Given the description of an element on the screen output the (x, y) to click on. 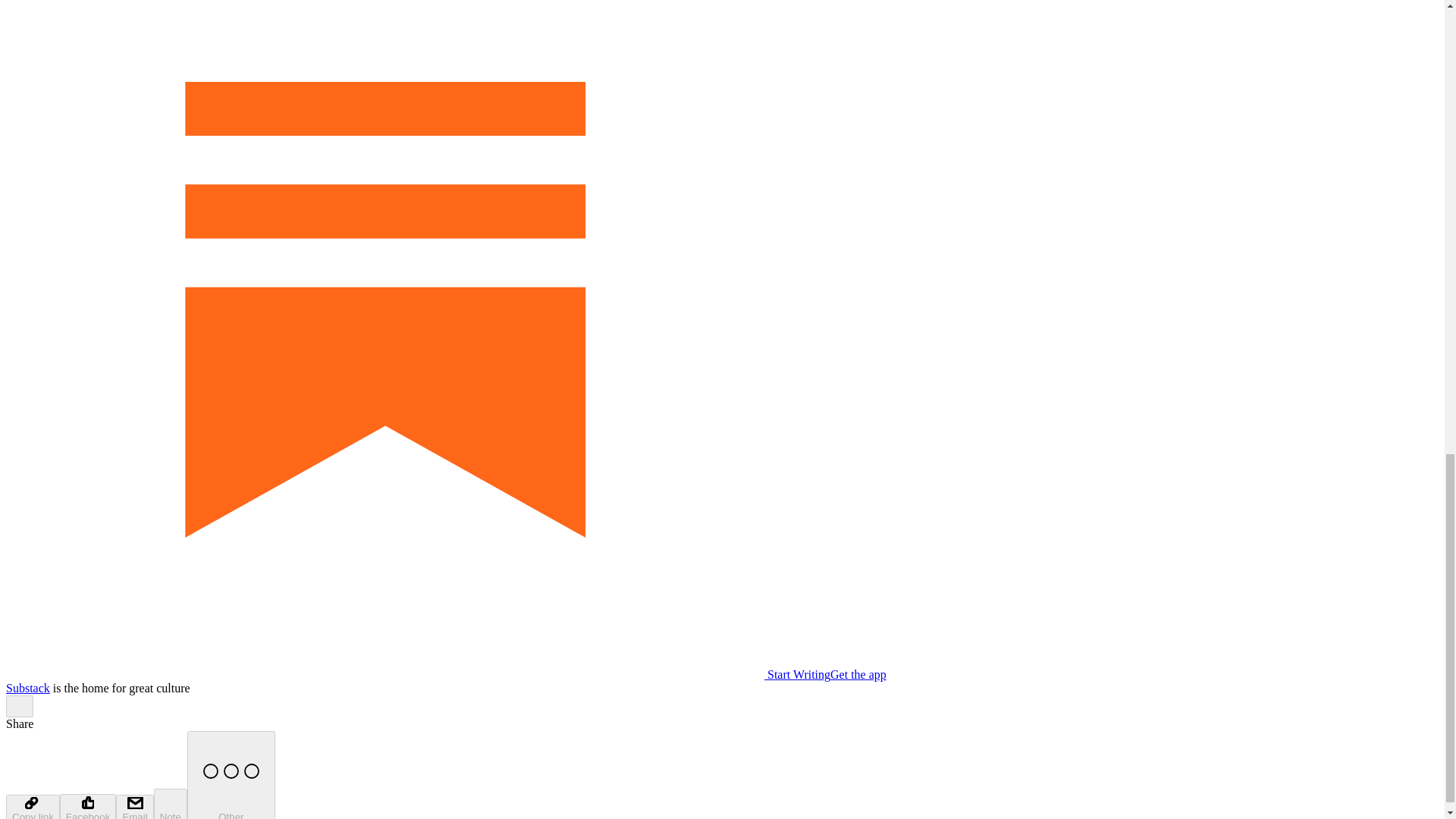
Substack (27, 687)
Get the app (857, 674)
Start Writing (417, 674)
